Given the description of an element on the screen output the (x, y) to click on. 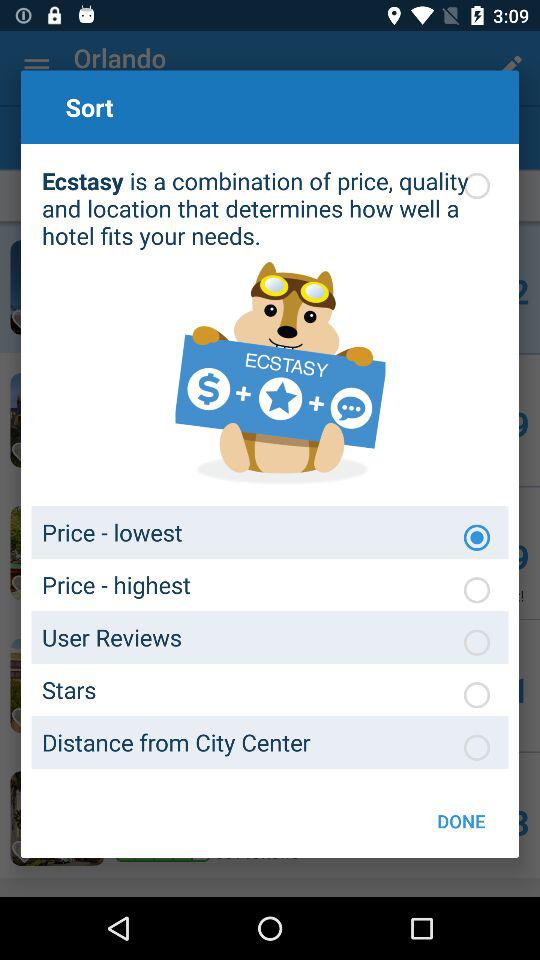
sort by highest to lowest price (477, 590)
